Given the description of an element on the screen output the (x, y) to click on. 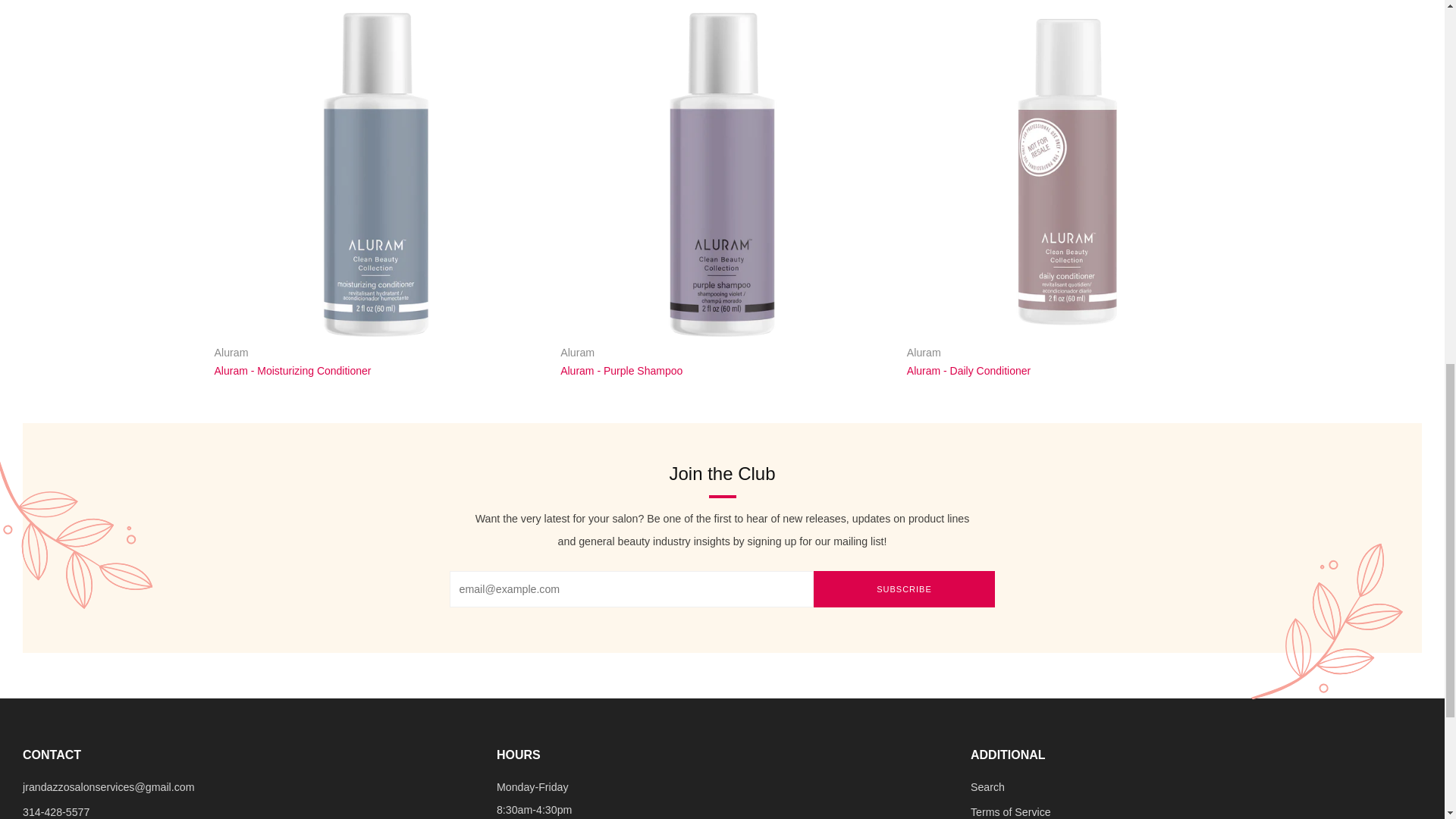
Aluram -  Purple Shampoo (721, 361)
Aluram -  Purple Shampoo (721, 174)
Aluram -  Moisturizing Conditioner (376, 361)
Aluram -  Moisturizing Conditioner (376, 174)
